Given the description of an element on the screen output the (x, y) to click on. 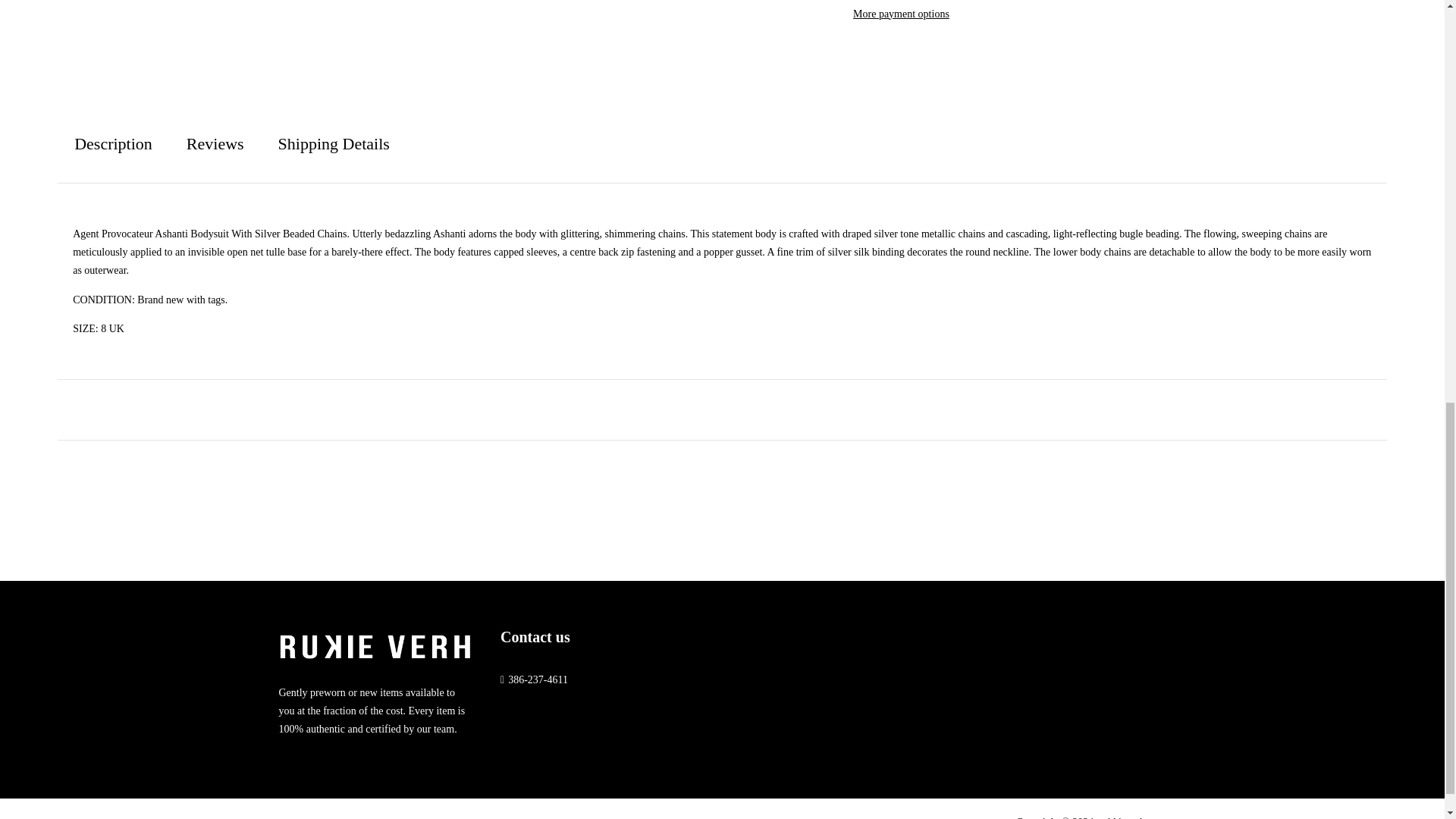
More payment options (900, 14)
Reviews (215, 144)
Description (113, 144)
Shipping Details (334, 144)
